Given the description of an element on the screen output the (x, y) to click on. 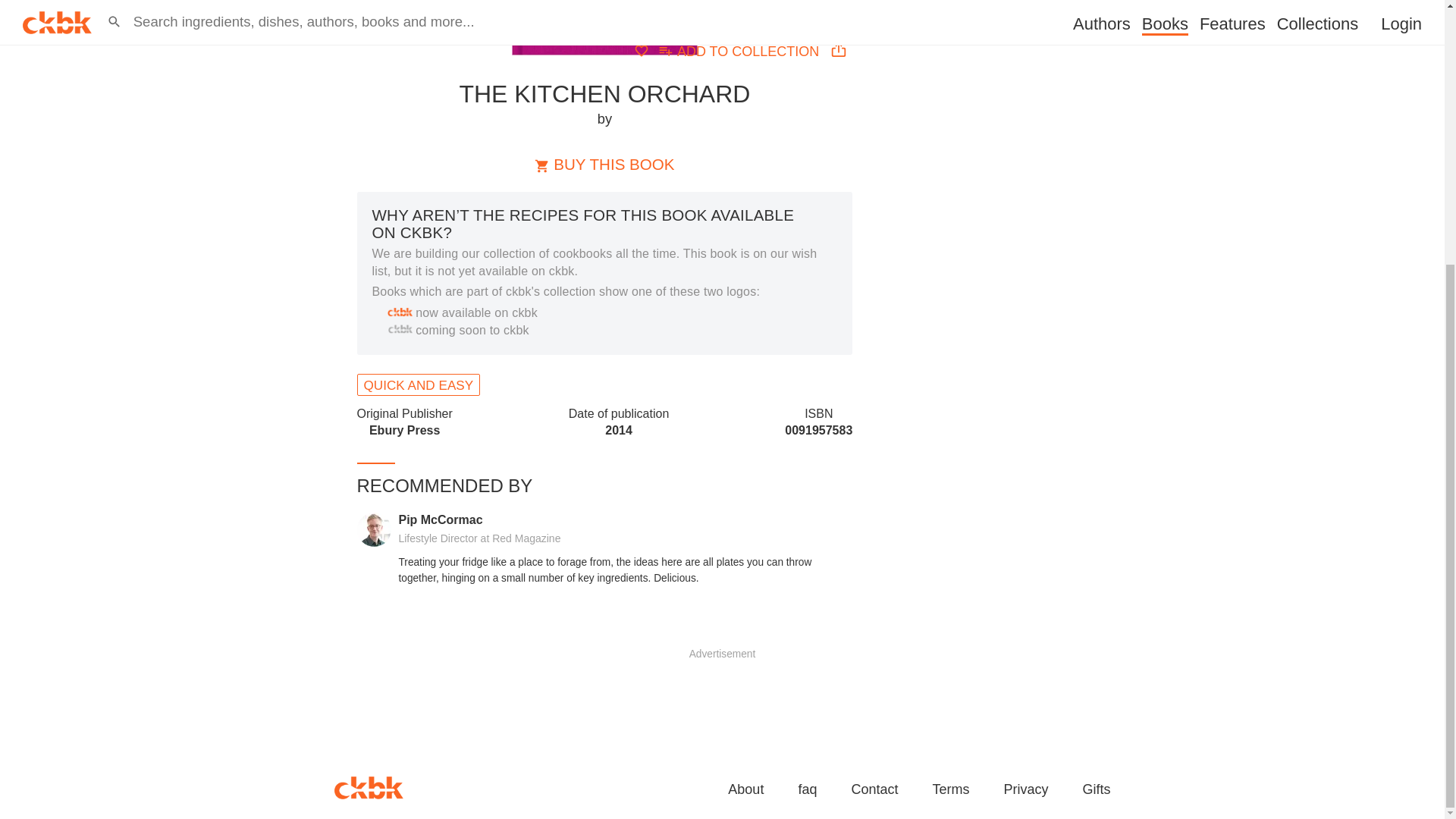
faq (806, 790)
Contact (874, 790)
QUICK AND EASY (418, 384)
Privacy (1025, 790)
Gifts (1095, 790)
BUY THIS BOOK (604, 163)
Pip McCormac (439, 519)
Buy this book (604, 163)
About (740, 50)
